Given the description of an element on the screen output the (x, y) to click on. 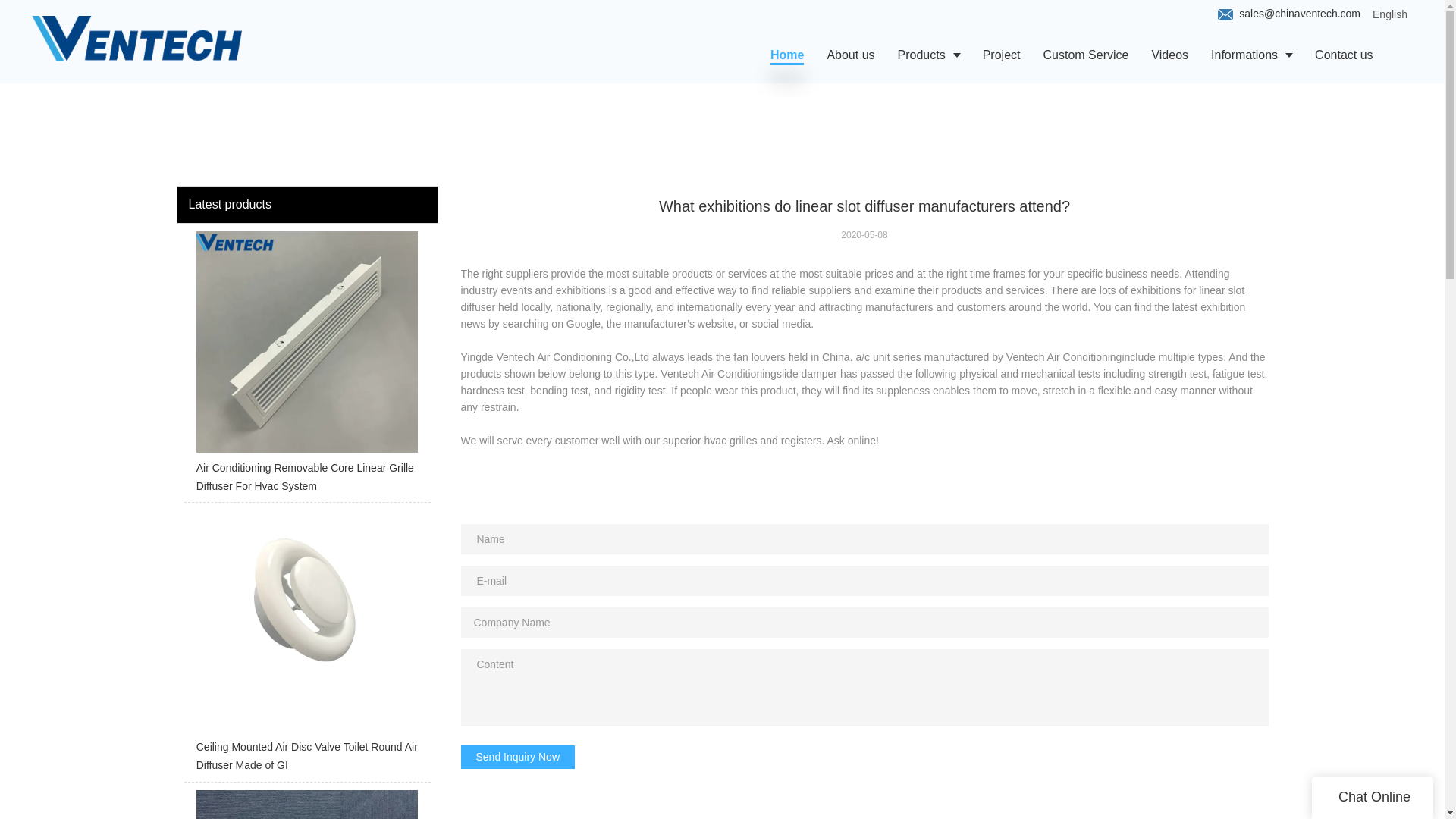
Contact us (1343, 55)
Products (928, 55)
Project (1001, 55)
About us (850, 55)
Custom Service (1085, 55)
Videos (1169, 55)
Informations (1251, 55)
Home (786, 55)
